Given the description of an element on the screen output the (x, y) to click on. 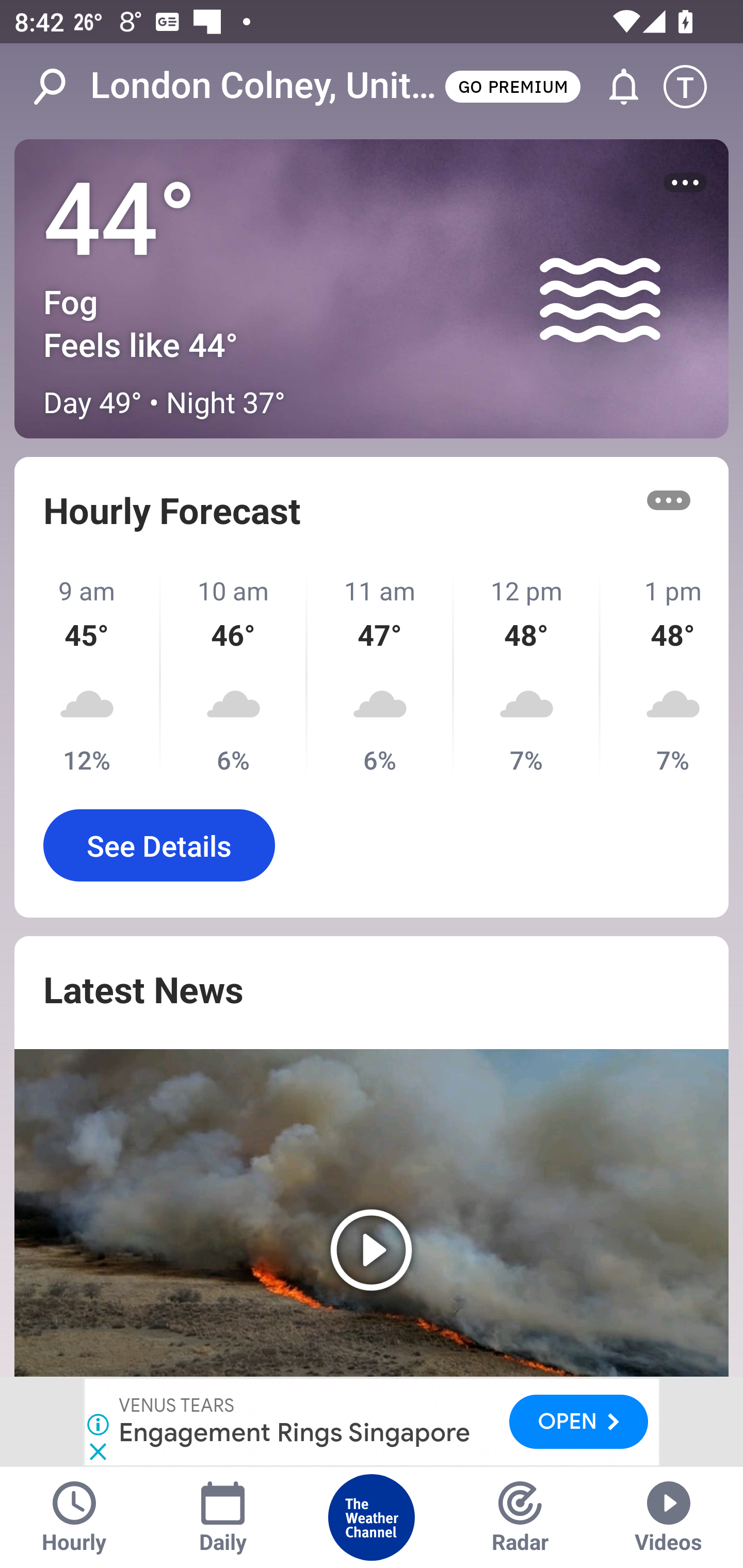
Search (59, 86)
Go to Alerts and Notifications (614, 86)
Setting icon T (694, 86)
London Colney, United Kingdom (265, 85)
GO PREMIUM (512, 85)
More options (684, 182)
More options (668, 500)
9 am 45° 12% (87, 674)
10 am 46° 6% (234, 674)
11 am 47° 6% (380, 674)
12 pm 48° 7% (526, 674)
1 pm 48° 7% (664, 674)
See Details (158, 845)
Play (371, 1212)
VENUS TEARS (176, 1405)
OPEN (578, 1420)
Engagement Rings Singapore (295, 1431)
Hourly Tab Hourly (74, 1517)
Daily Tab Daily (222, 1517)
Radar Tab Radar (519, 1517)
Videos Tab Videos (668, 1517)
